Given the description of an element on the screen output the (x, y) to click on. 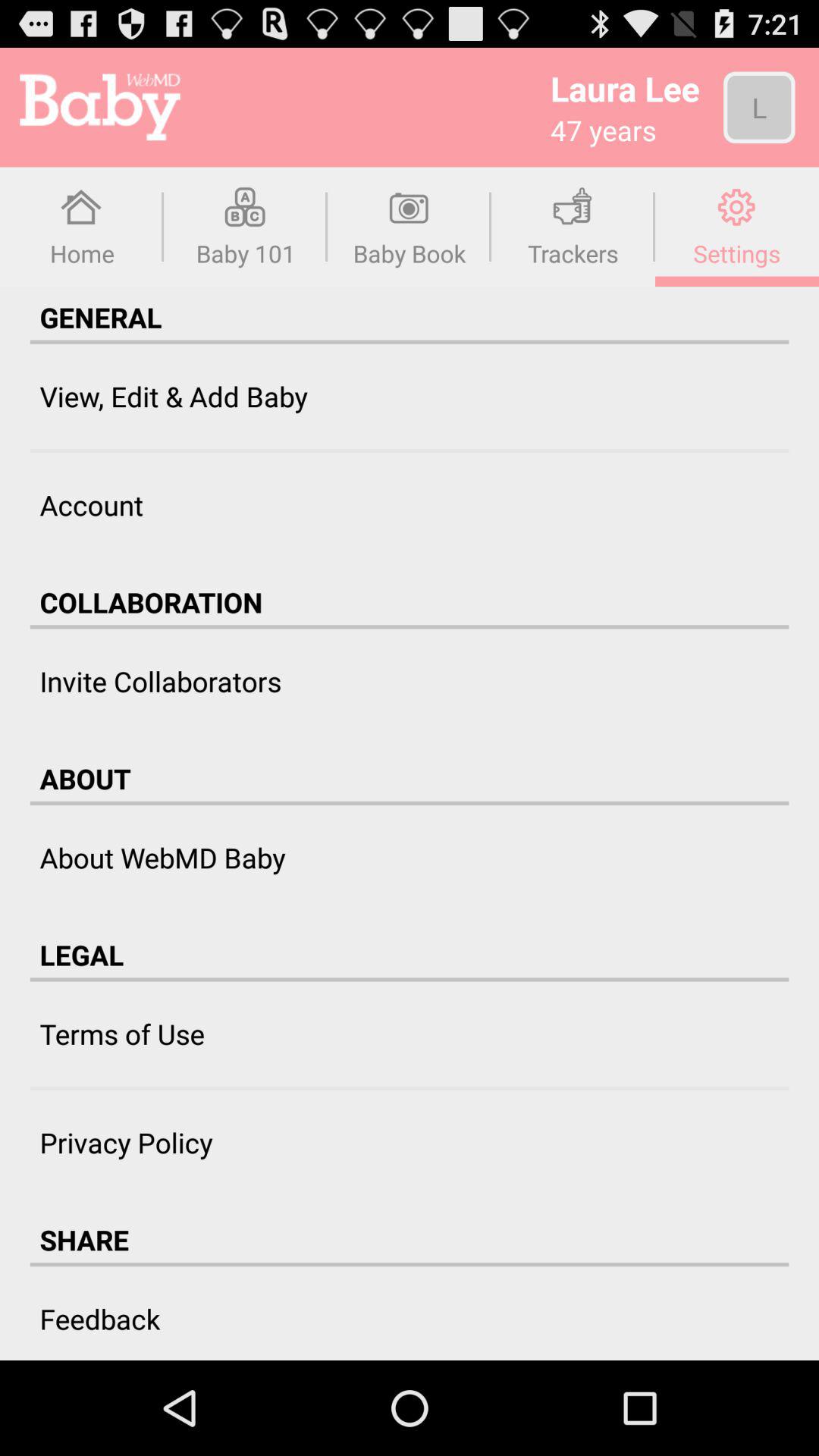
select icon below share icon (409, 1264)
